Given the description of an element on the screen output the (x, y) to click on. 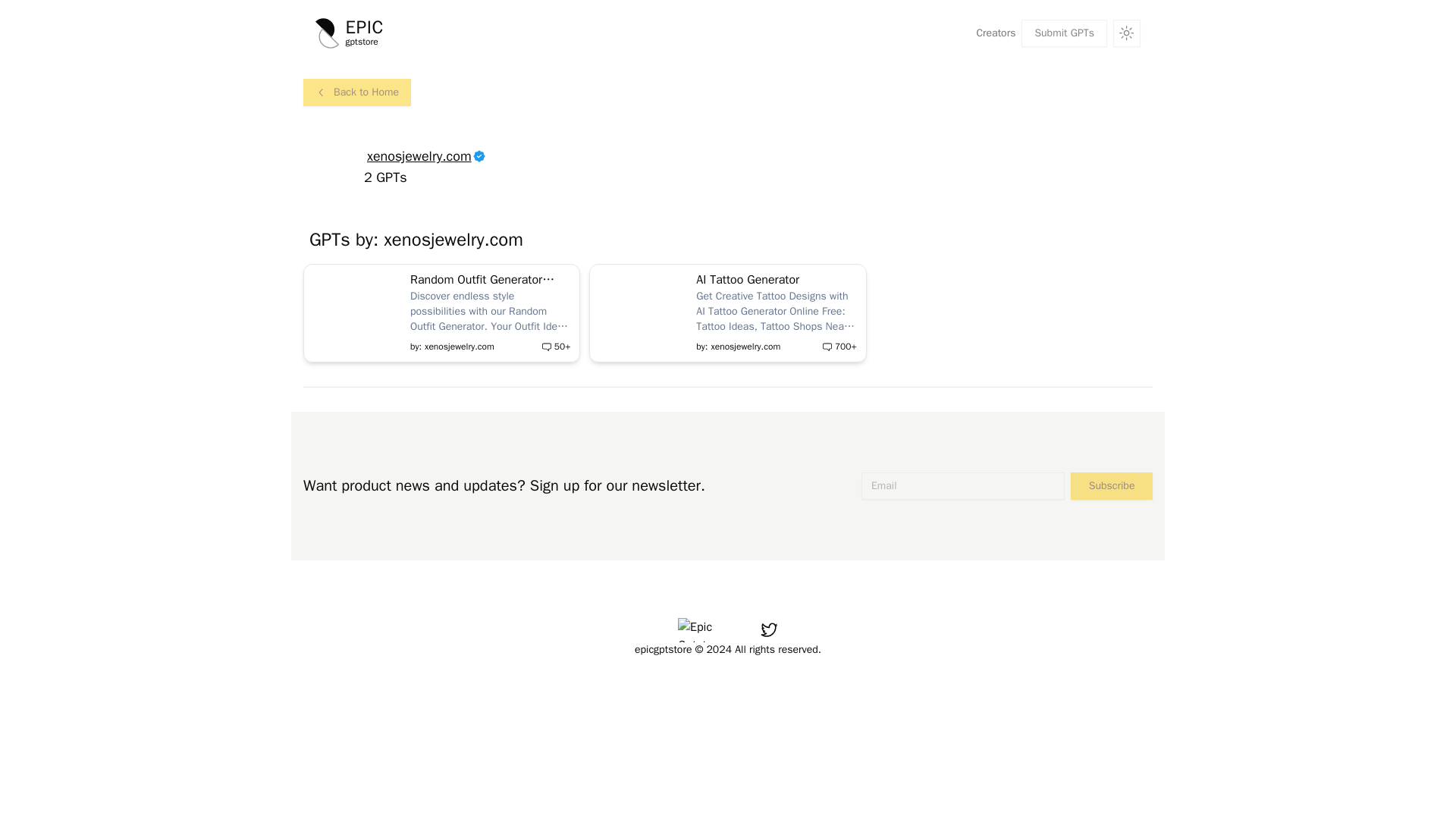
Back to Home (356, 94)
Submit GPTs (1064, 32)
Toggle theme (1126, 32)
Creators (994, 32)
Subscribe (349, 33)
Back to Home (1111, 485)
xenosjewelry.com (356, 92)
